Given the description of an element on the screen output the (x, y) to click on. 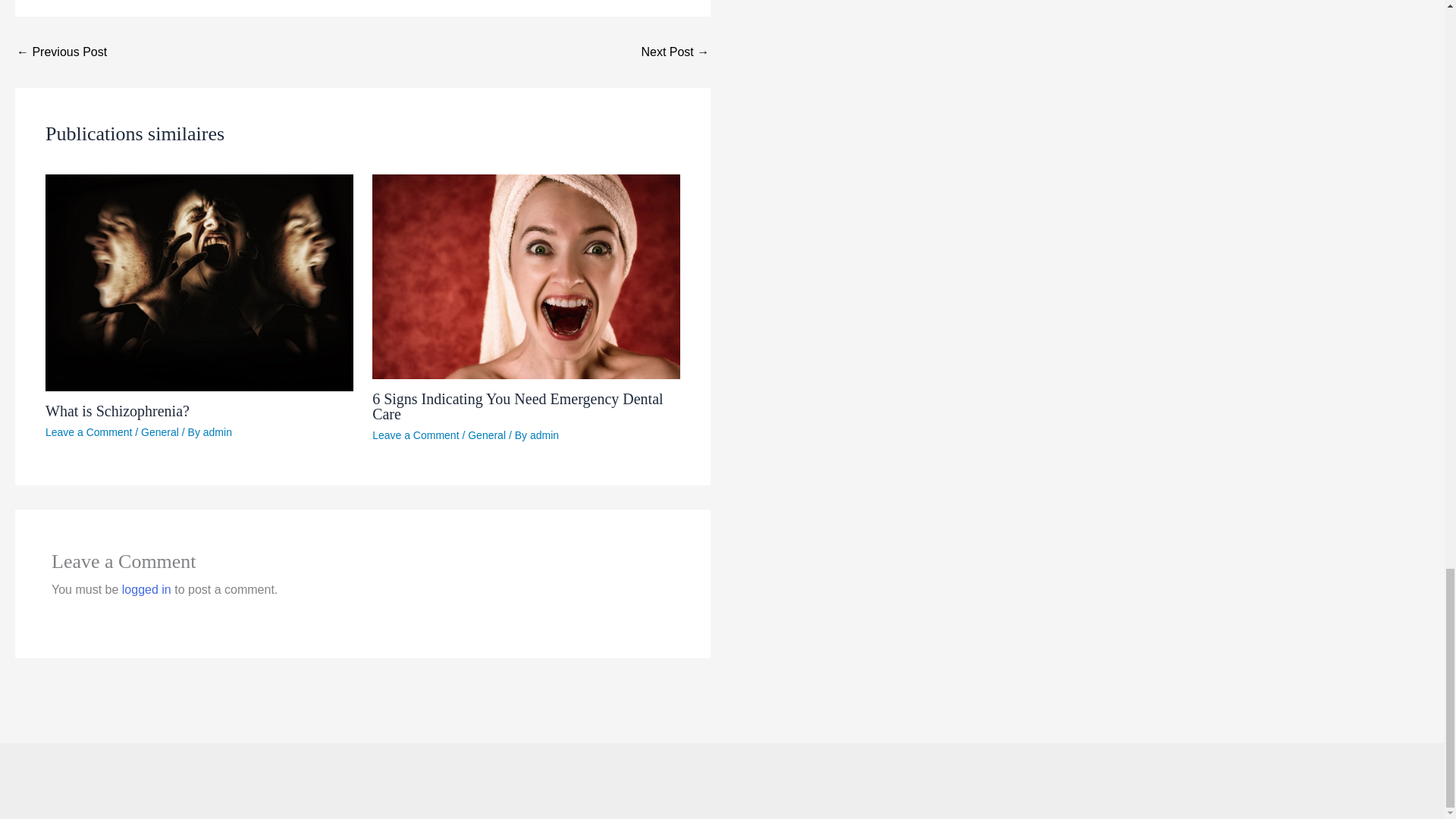
Leave a Comment (415, 435)
admin (217, 431)
View all posts by admin (544, 435)
What is Schizophrenia? (117, 410)
logged in (146, 589)
6 Signs Indicating You Need Emergency Dental Care (517, 406)
View all posts by admin (217, 431)
Leave a Comment (88, 431)
General (160, 431)
General (486, 435)
Rest Days: Why Are They Important When Training? (61, 51)
admin (544, 435)
